Given the description of an element on the screen output the (x, y) to click on. 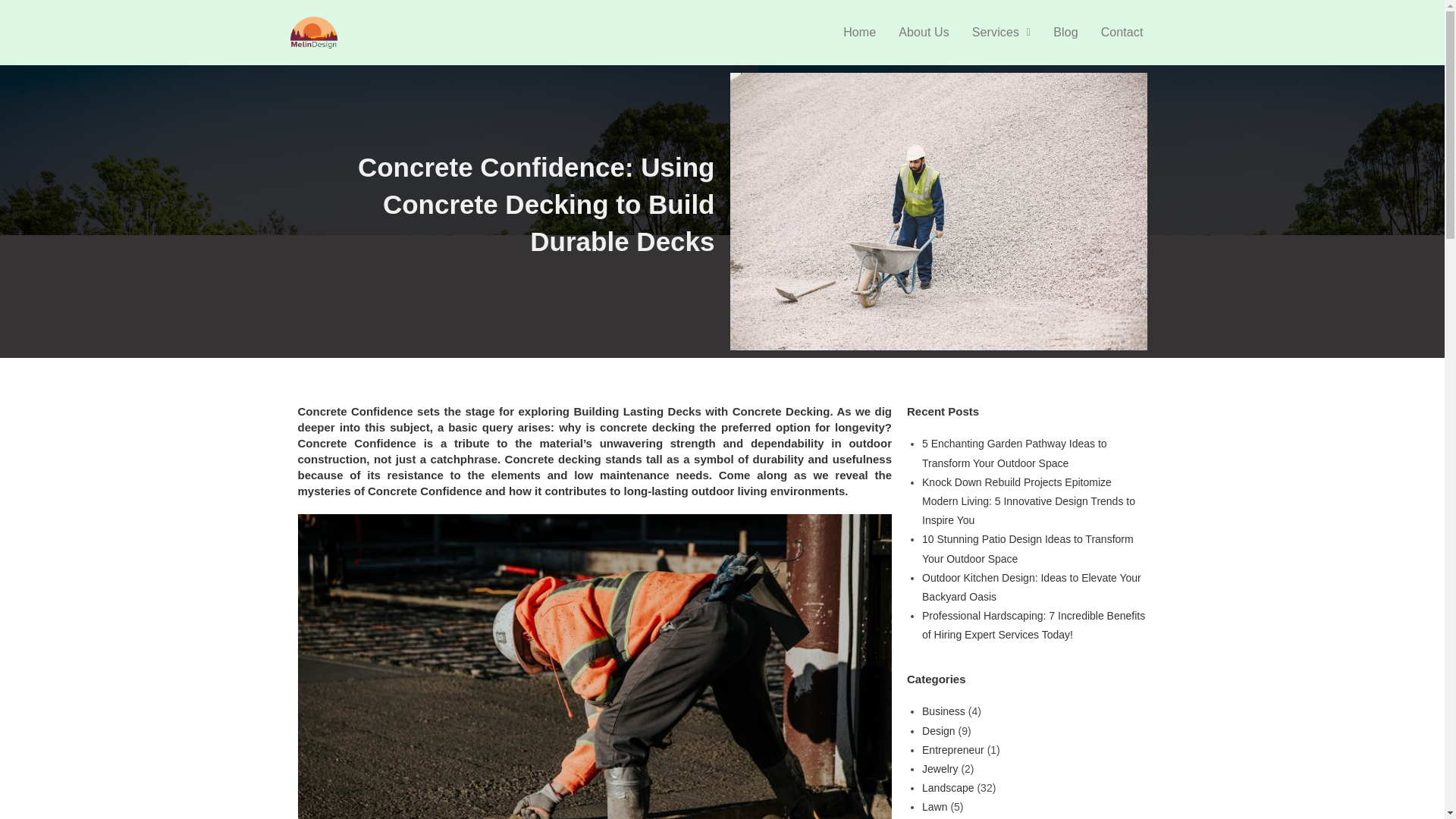
Outdoor Kitchen Design: Ideas to Elevate Your Backyard Oasis (1031, 586)
Jewelry (939, 768)
Contact (1121, 32)
Services (1001, 32)
About Us (923, 32)
Entrepreneur (952, 749)
Landscape (947, 787)
Business (943, 711)
Design (938, 730)
Blog (1065, 32)
Lawn (934, 806)
